Given the description of an element on the screen output the (x, y) to click on. 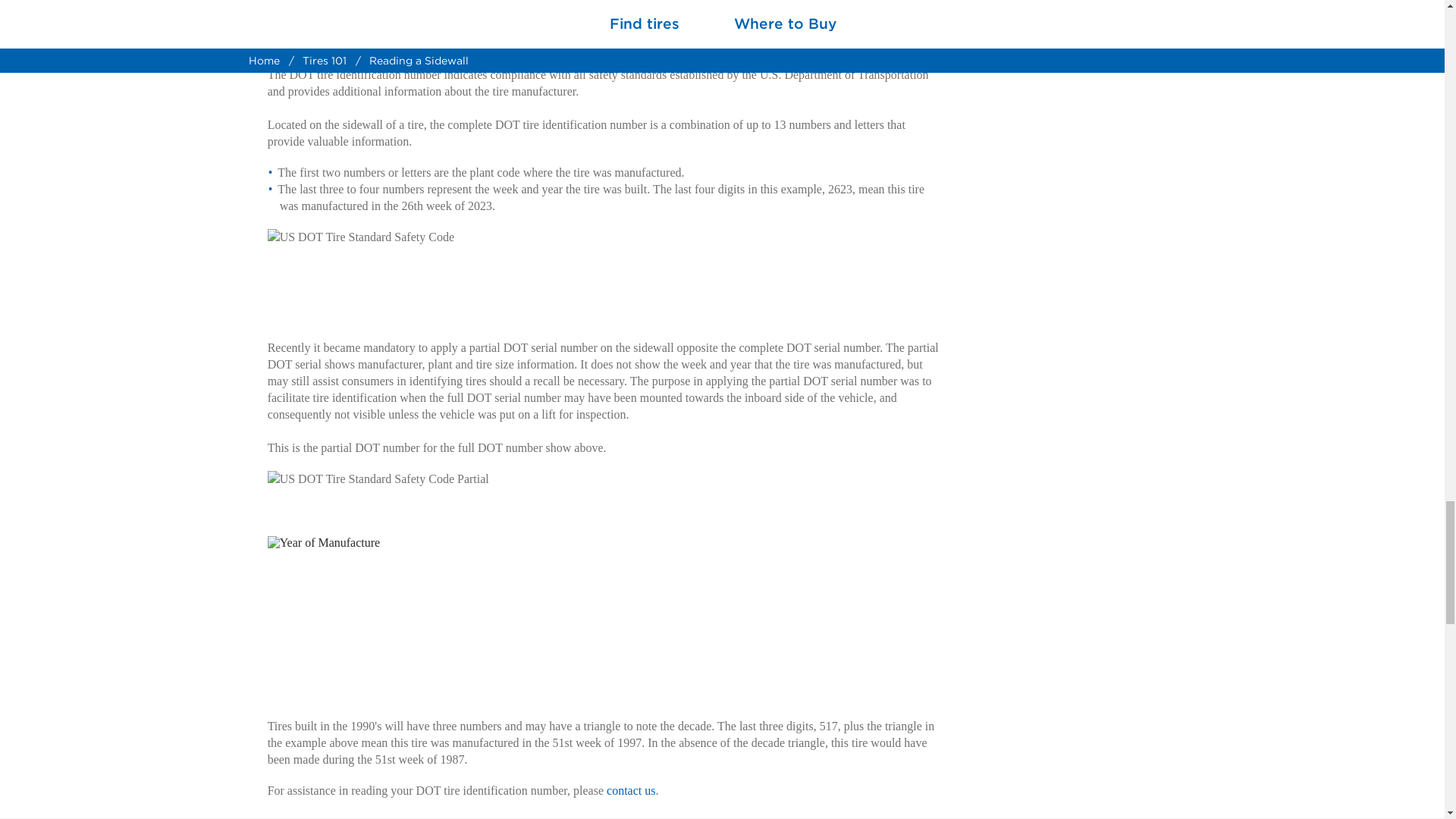
Contact Us (631, 789)
